Given the description of an element on the screen output the (x, y) to click on. 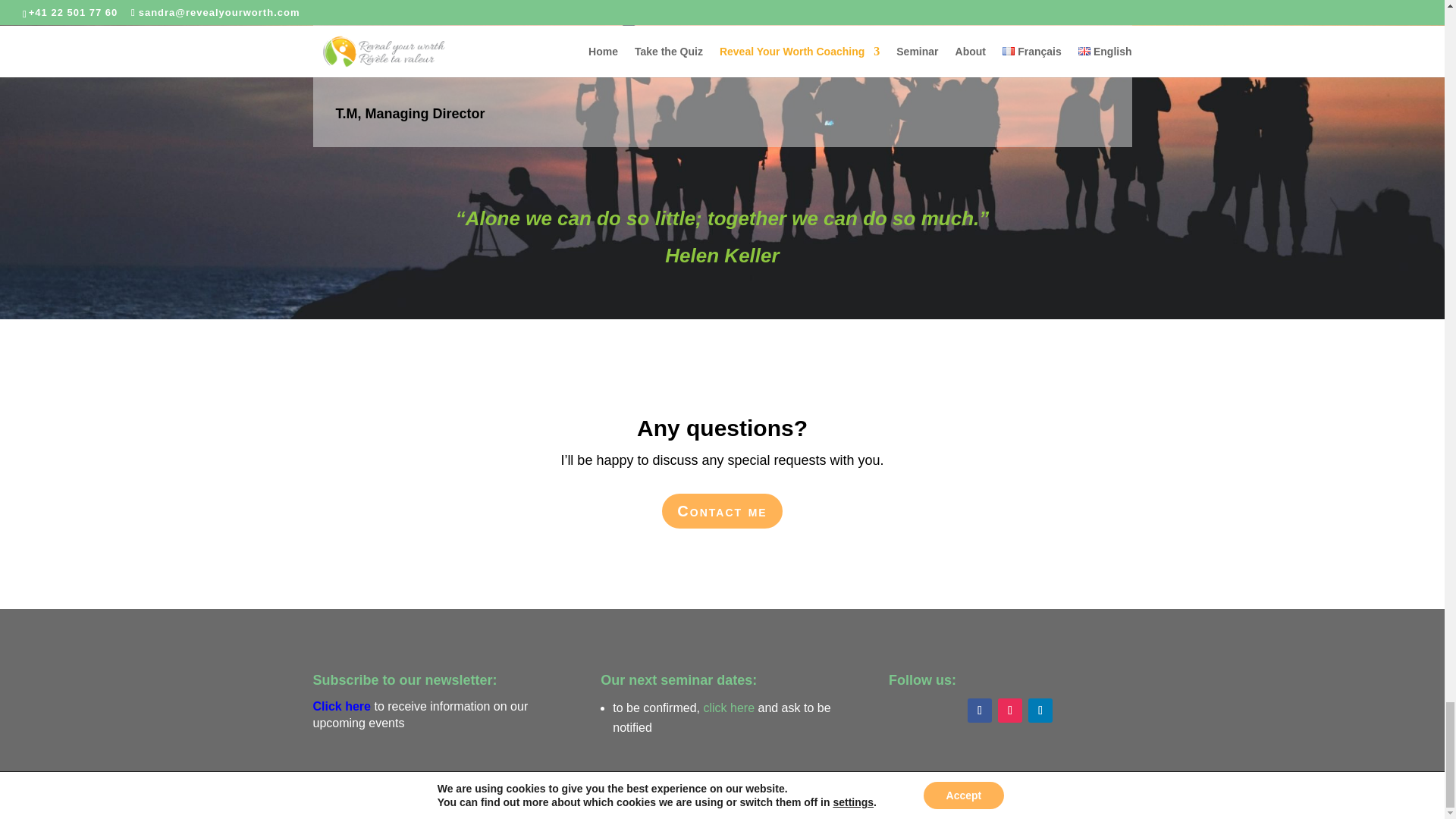
Follow on LinkedIn (1039, 710)
Follow on Instagram (1009, 710)
Follow on Facebook (979, 710)
